Given the description of an element on the screen output the (x, y) to click on. 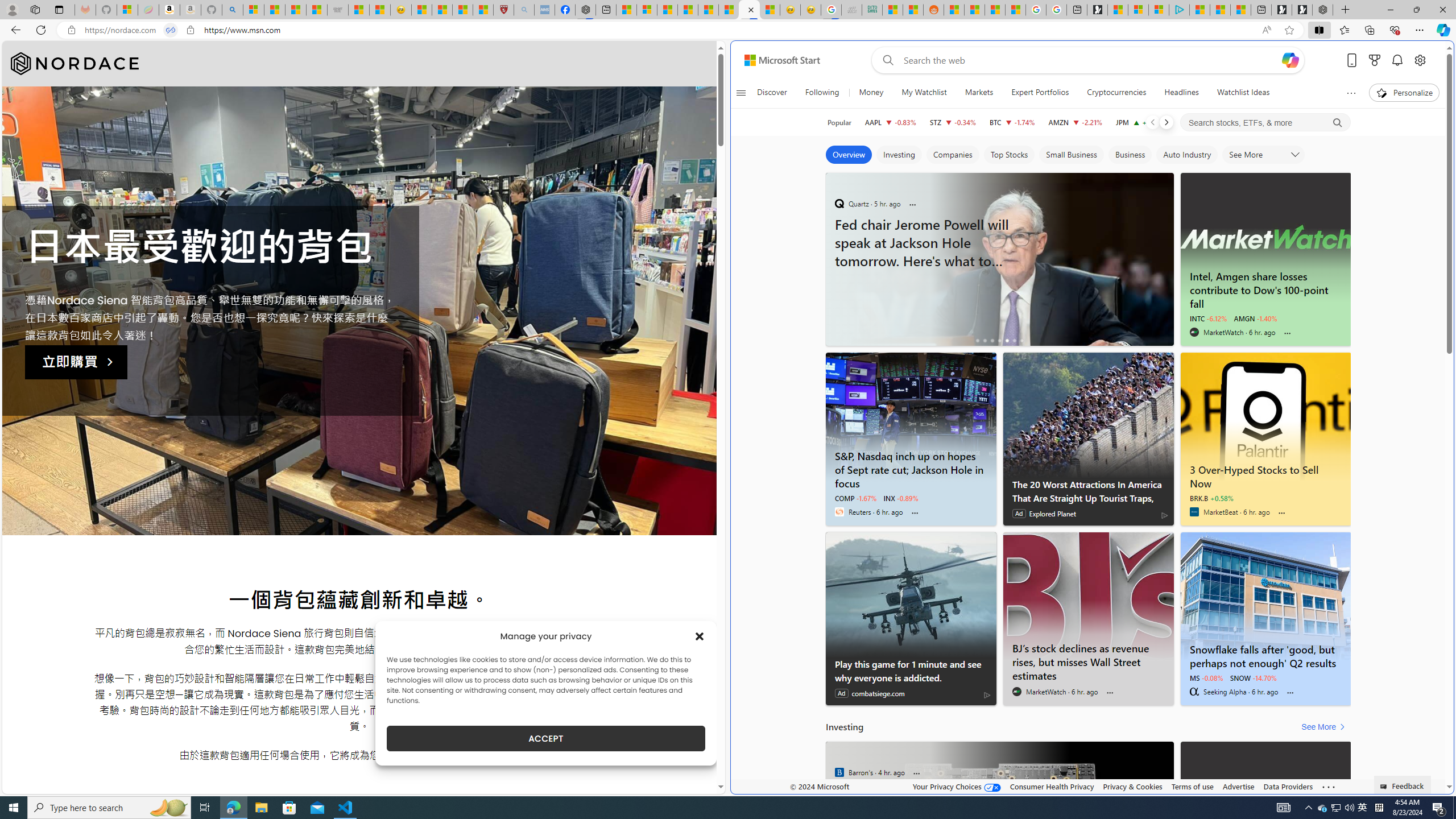
INTC -6.12% (1208, 317)
Data Providers (1288, 786)
BRK.B +0.58% (1211, 497)
Cryptocurrencies (1116, 92)
MS -0.08% (1206, 677)
